Given the description of an element on the screen output the (x, y) to click on. 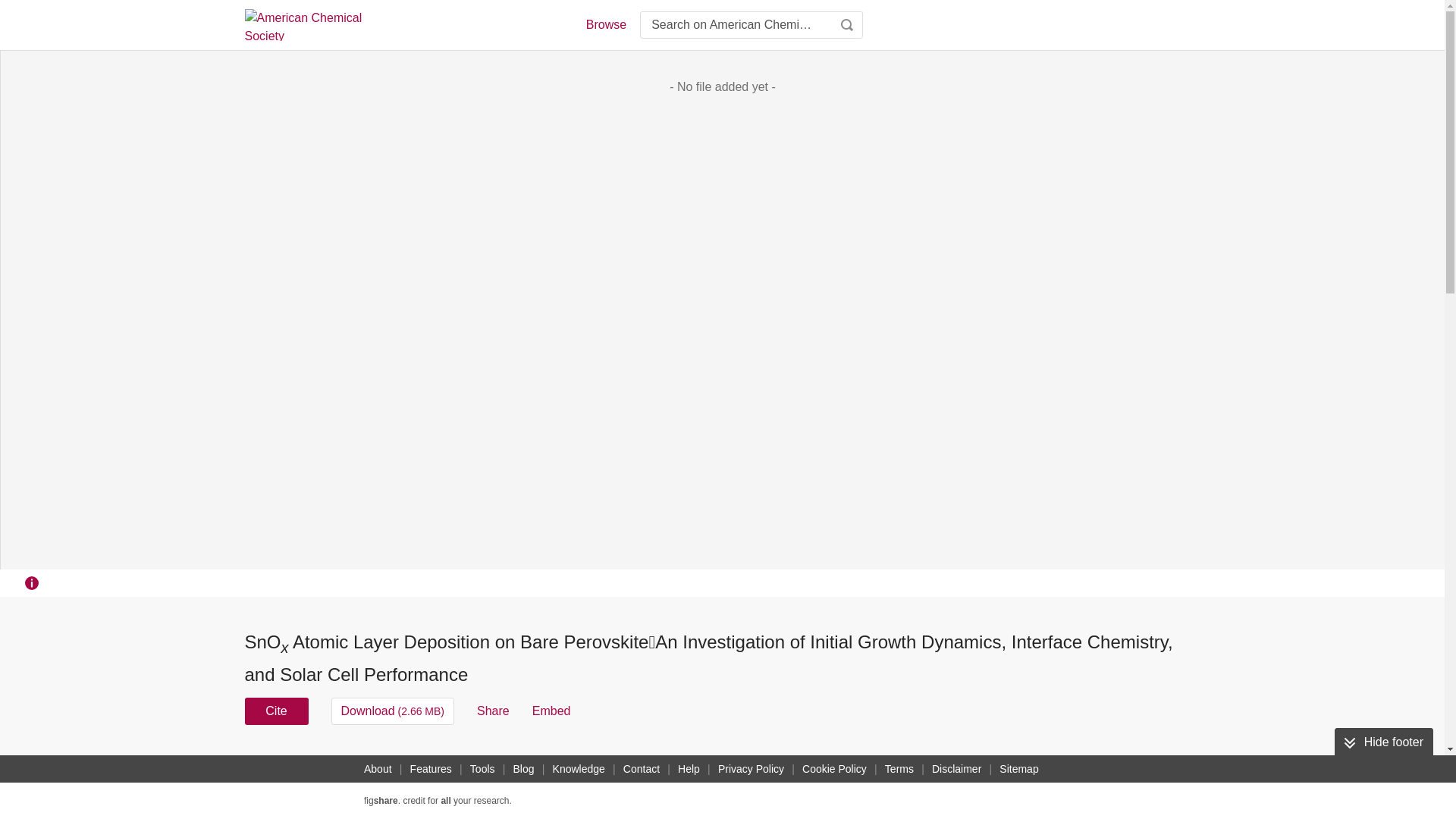
Cite (275, 710)
Share (493, 710)
Browse (605, 24)
Embed (551, 710)
USAGE METRICS (976, 765)
